Given the description of an element on the screen output the (x, y) to click on. 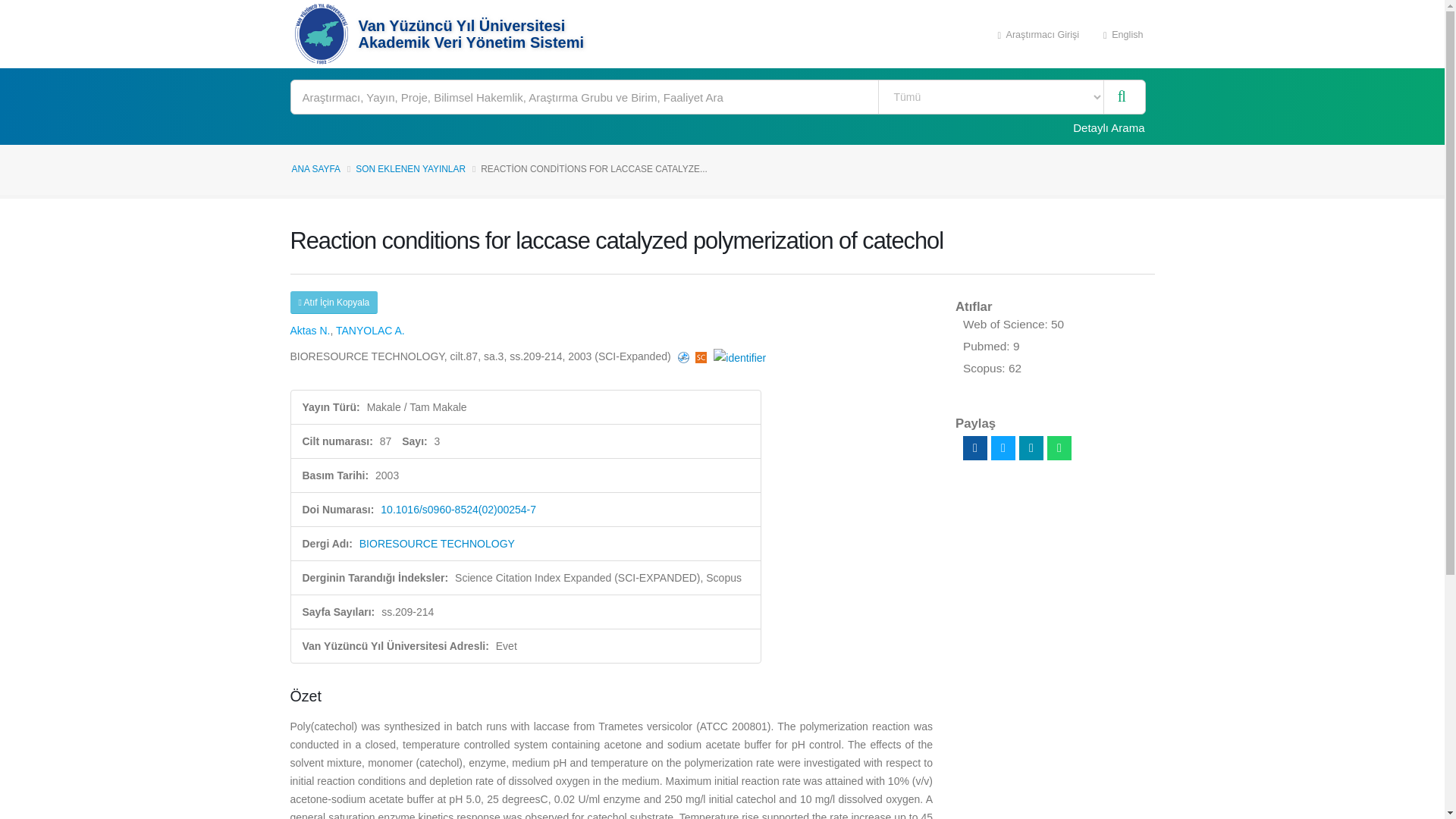
English (1123, 33)
BIORESOURCE TECHNOLOGY (437, 543)
ANA SAYFA (315, 168)
Aktas N. (309, 330)
SON EKLENEN YAYINLAR (410, 168)
TANYOLAC A. (370, 330)
A TANYOLAC (370, 330)
